Given the description of an element on the screen output the (x, y) to click on. 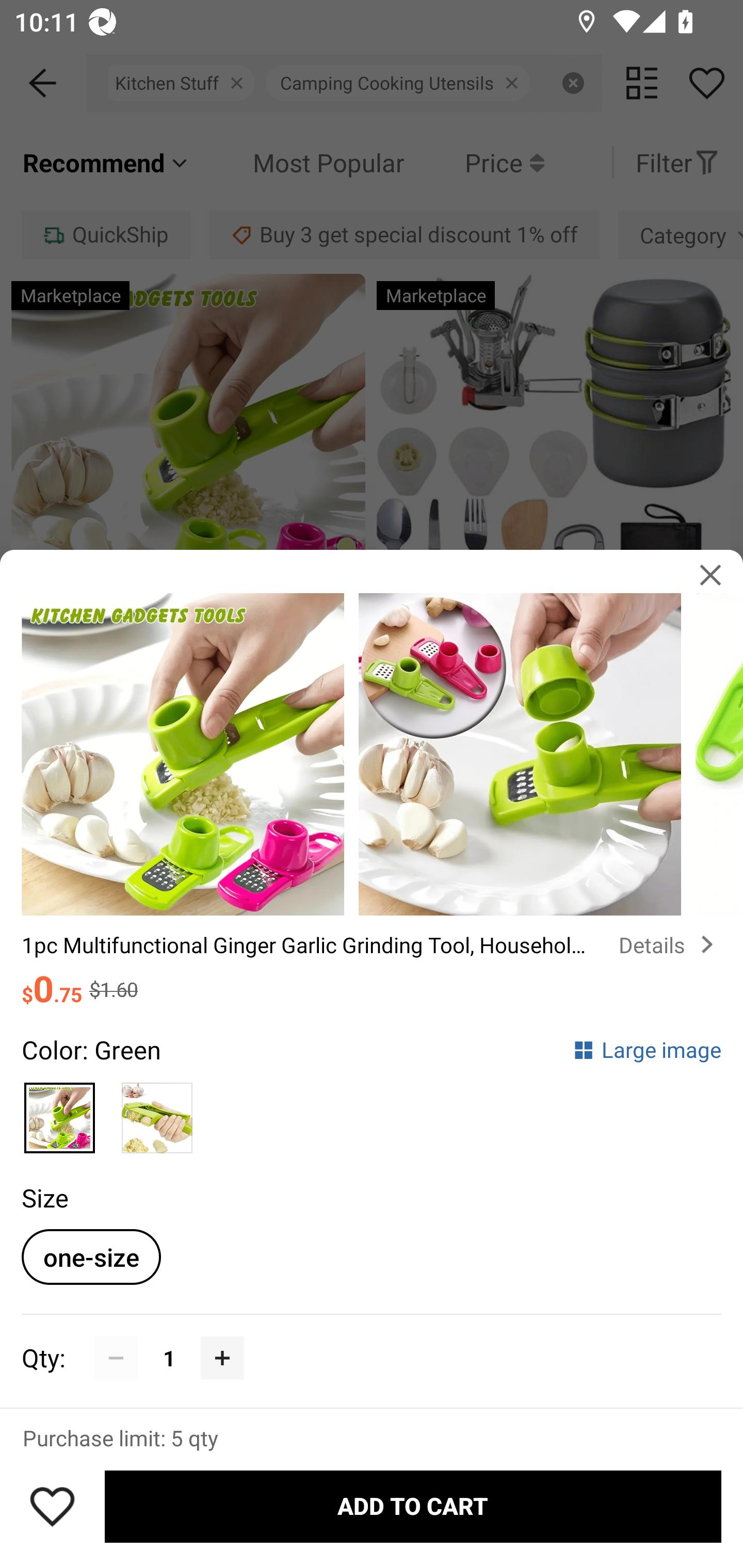
Details (669, 944)
Color: Green (91, 1049)
Large image (646, 1049)
Green (59, 1112)
Green (156, 1112)
Size (44, 1197)
one-size one-sizeselected option (91, 1256)
ADD TO CART (412, 1506)
Save (52, 1505)
